Given the description of an element on the screen output the (x, y) to click on. 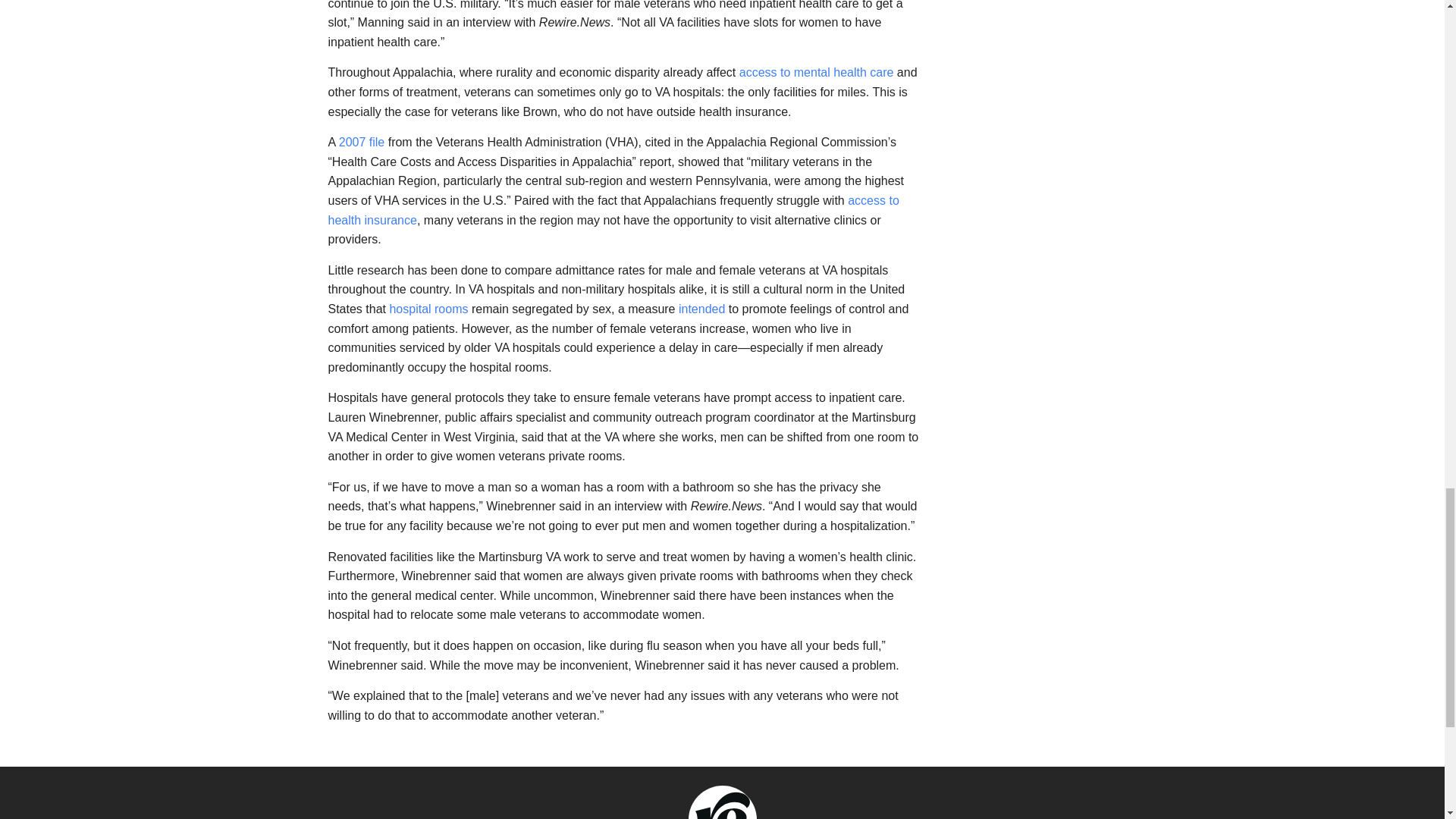
access to mental health care (816, 72)
hospital rooms (427, 308)
access to health insurance (612, 210)
2007 file (362, 141)
